Given the description of an element on the screen output the (x, y) to click on. 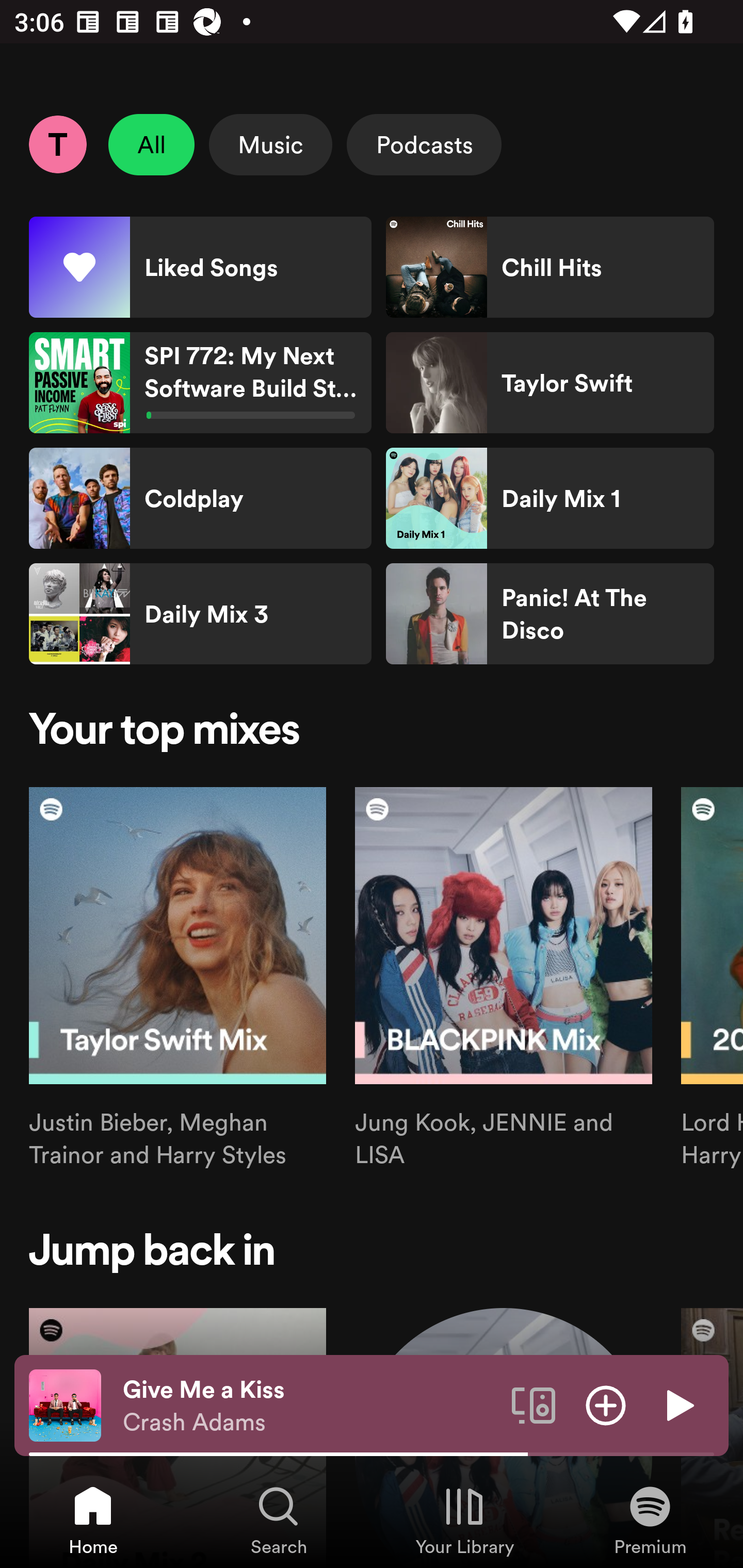
Profile (57, 144)
All Unselect All (151, 144)
Music Select Music (270, 144)
Podcasts Select Podcasts (423, 144)
Liked Songs Shortcut Liked Songs (199, 267)
Chill Hits Shortcut Chill Hits (549, 267)
Taylor Swift Shortcut Taylor Swift (549, 382)
Coldplay Shortcut Coldplay (199, 498)
Daily Mix 1 Shortcut Daily Mix 1 (549, 498)
Daily Mix 3 Shortcut Daily Mix 3 (199, 613)
Panic! At The Disco Shortcut Panic! At The Disco (549, 613)
Give Me a Kiss Crash Adams (309, 1405)
The cover art of the currently playing track (64, 1404)
Connect to a device. Opens the devices menu (533, 1404)
Add item (605, 1404)
Play (677, 1404)
Home, Tab 1 of 4 Home Home (92, 1519)
Search, Tab 2 of 4 Search Search (278, 1519)
Your Library, Tab 3 of 4 Your Library Your Library (464, 1519)
Premium, Tab 4 of 4 Premium Premium (650, 1519)
